Given the description of an element on the screen output the (x, y) to click on. 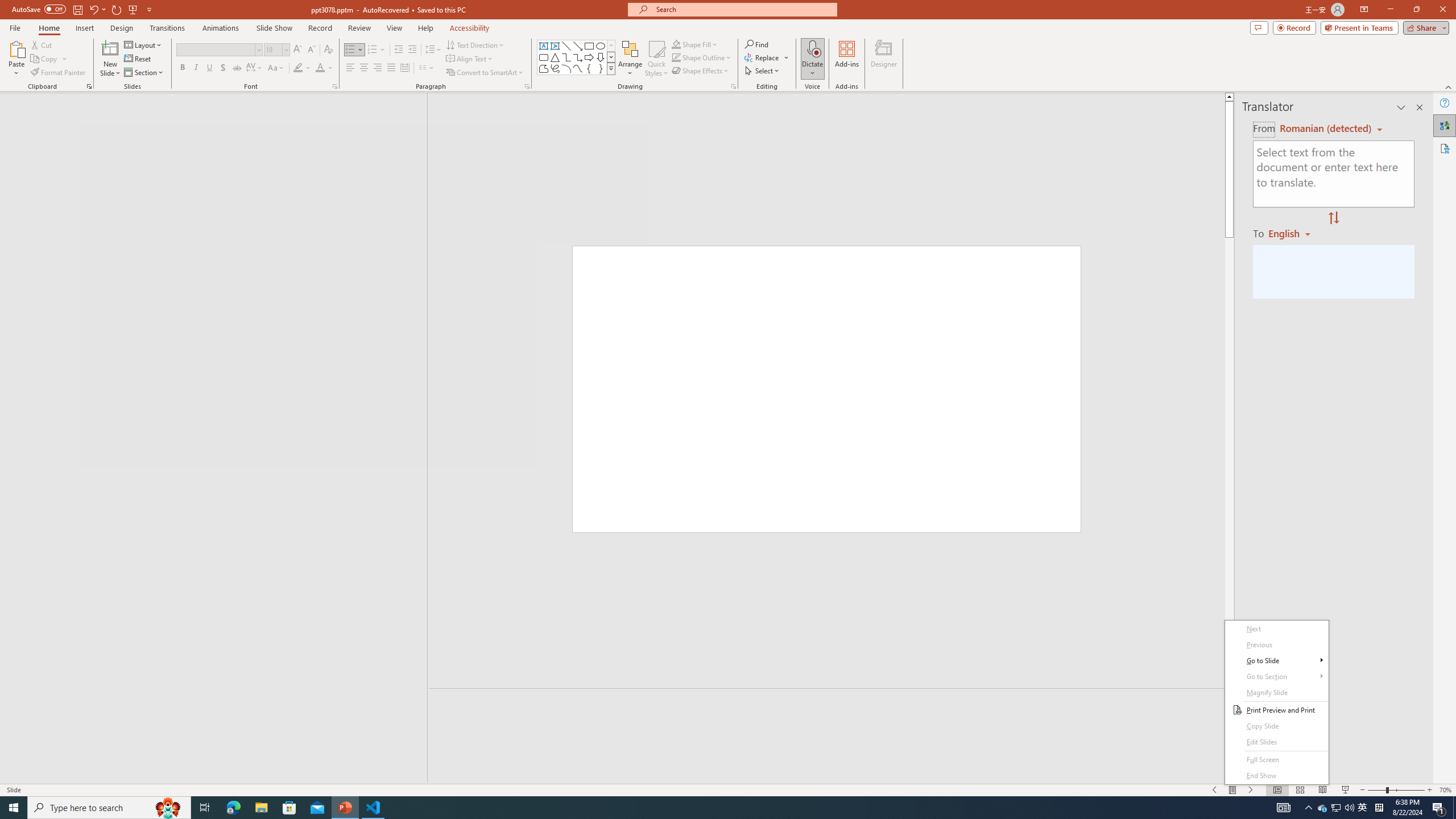
Swap "from" and "to" languages. (1333, 218)
Go to Section (1276, 676)
